Given the description of an element on the screen output the (x, y) to click on. 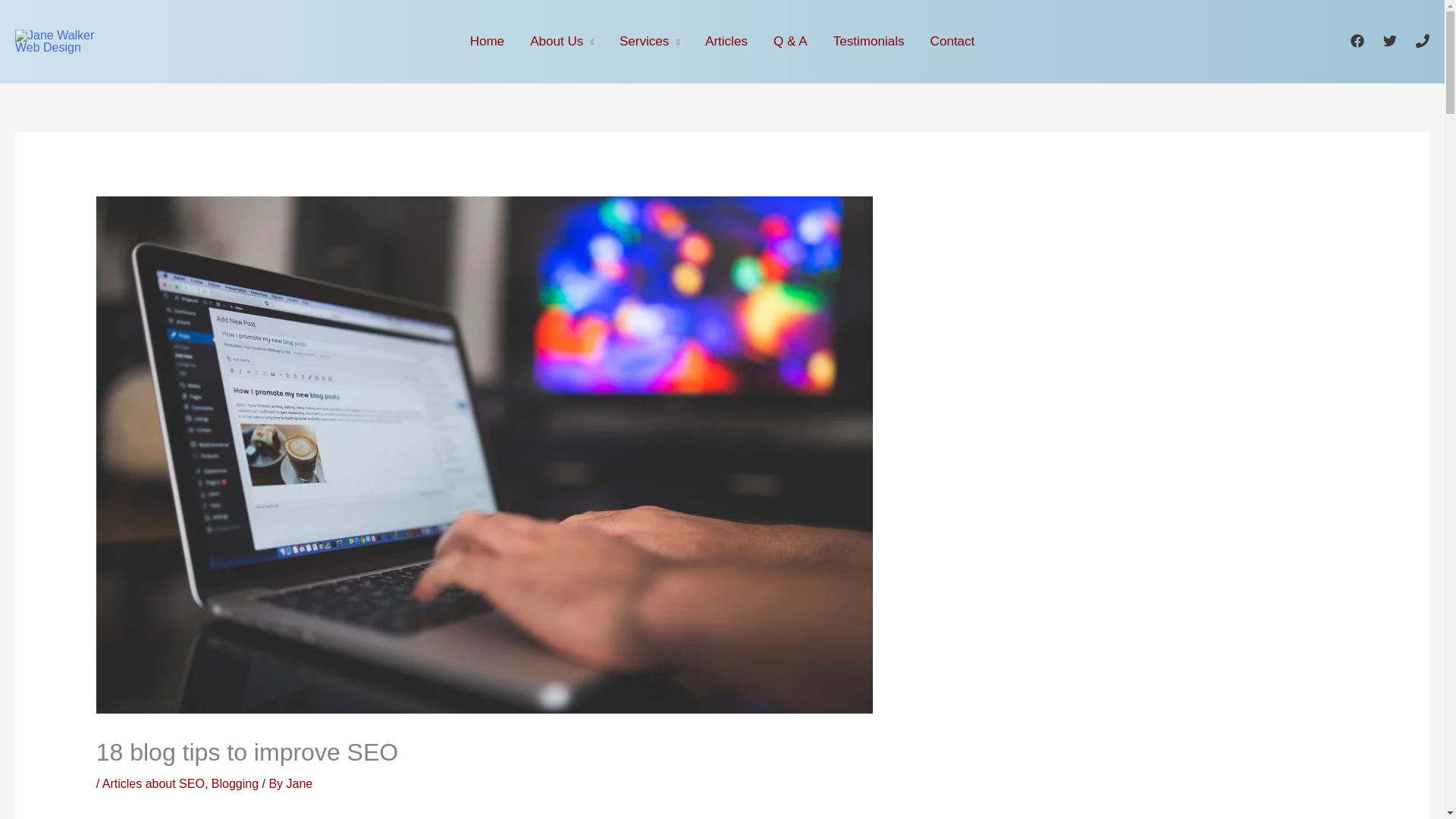
Blogging (235, 783)
Articles about SEO (153, 783)
Testimonials (869, 41)
Services (650, 41)
About Us (561, 41)
View all posts by Jane (299, 783)
Jane (299, 783)
